Given the description of an element on the screen output the (x, y) to click on. 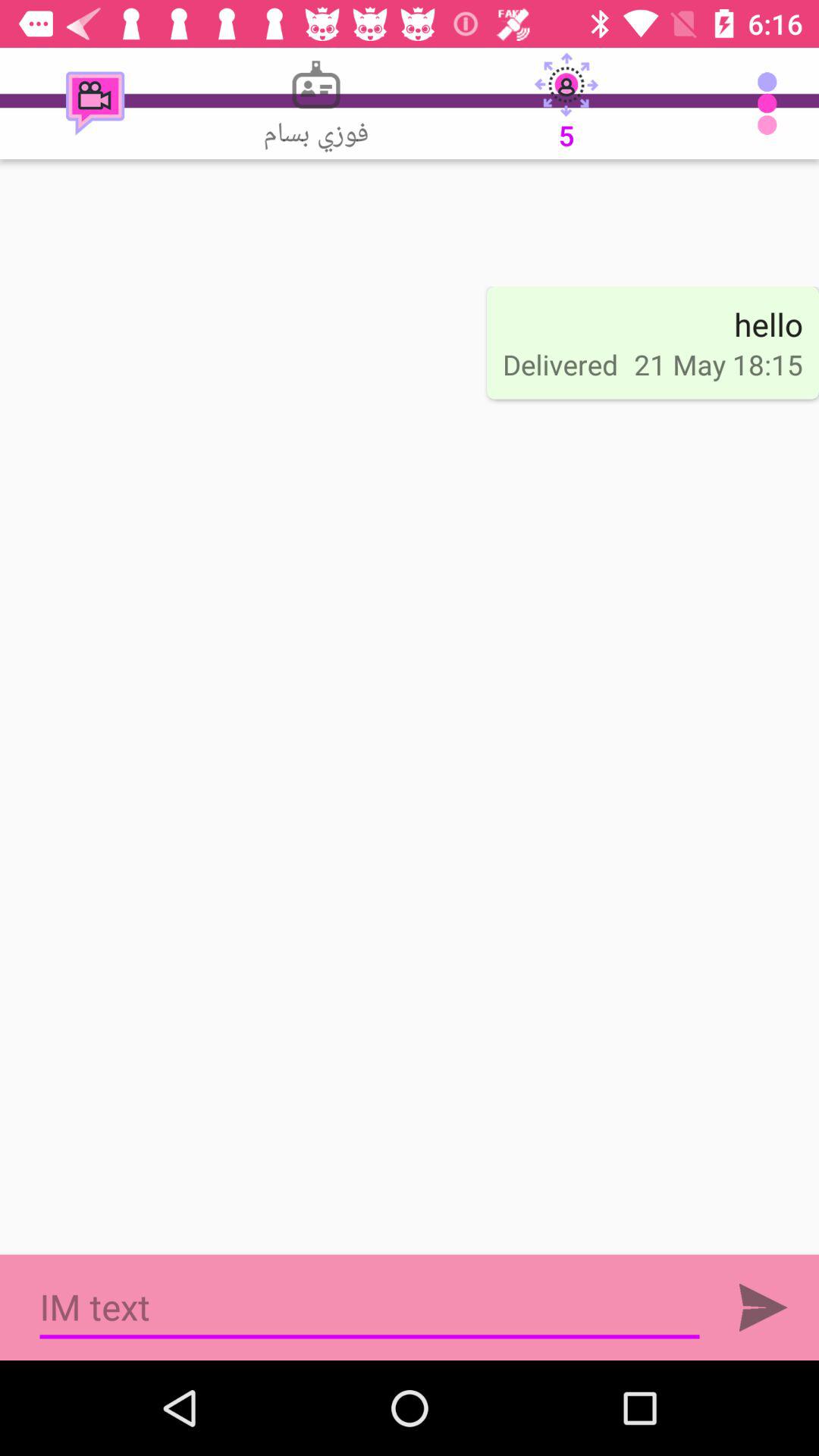
press the icon next to 5 item (316, 103)
